Given the description of an element on the screen output the (x, y) to click on. 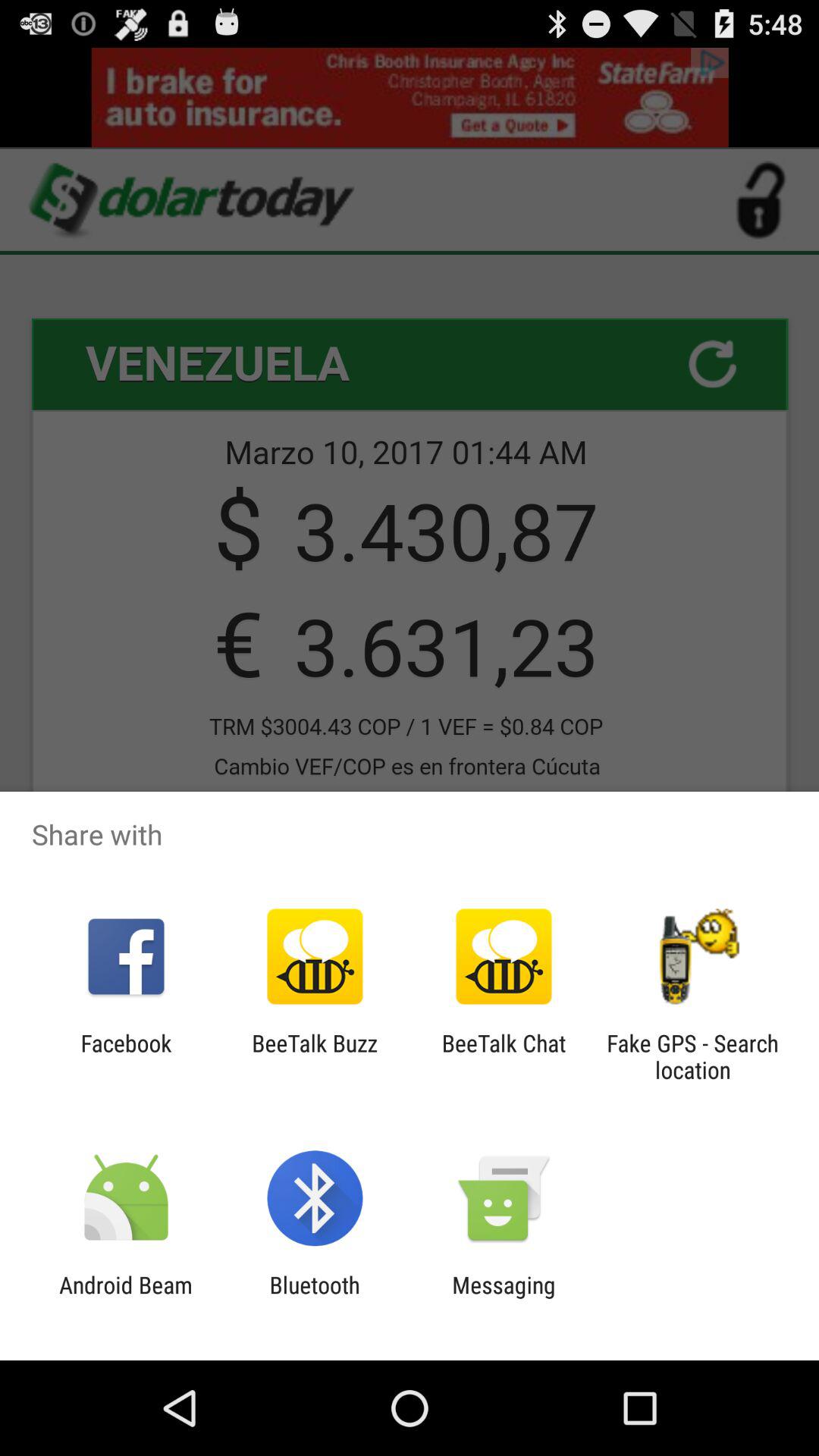
launch icon next to beetalk chat item (692, 1056)
